Given the description of an element on the screen output the (x, y) to click on. 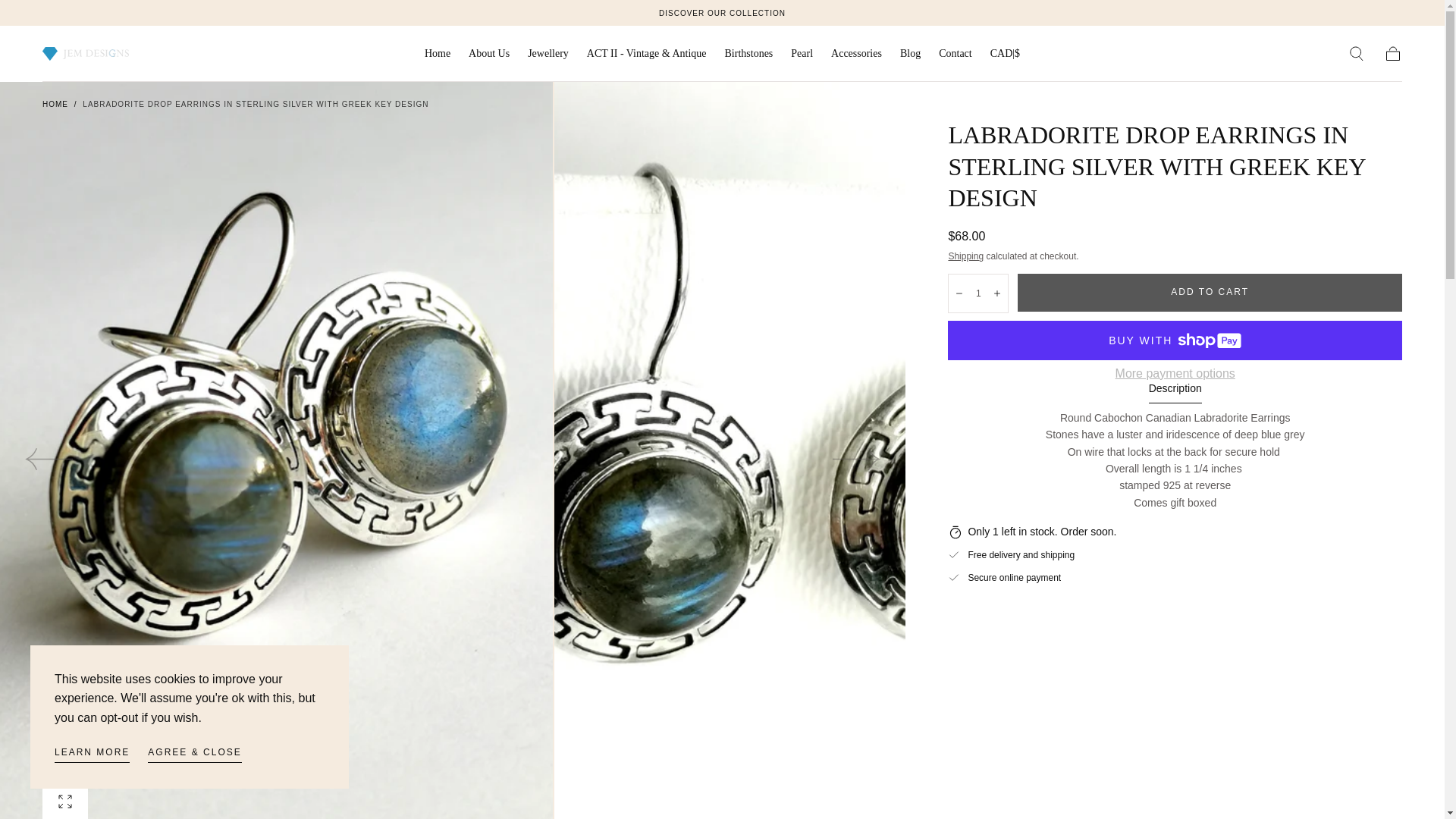
Cart (1393, 54)
LEARN MORE (92, 754)
SKIP TO CONTENT (67, 18)
